Given the description of an element on the screen output the (x, y) to click on. 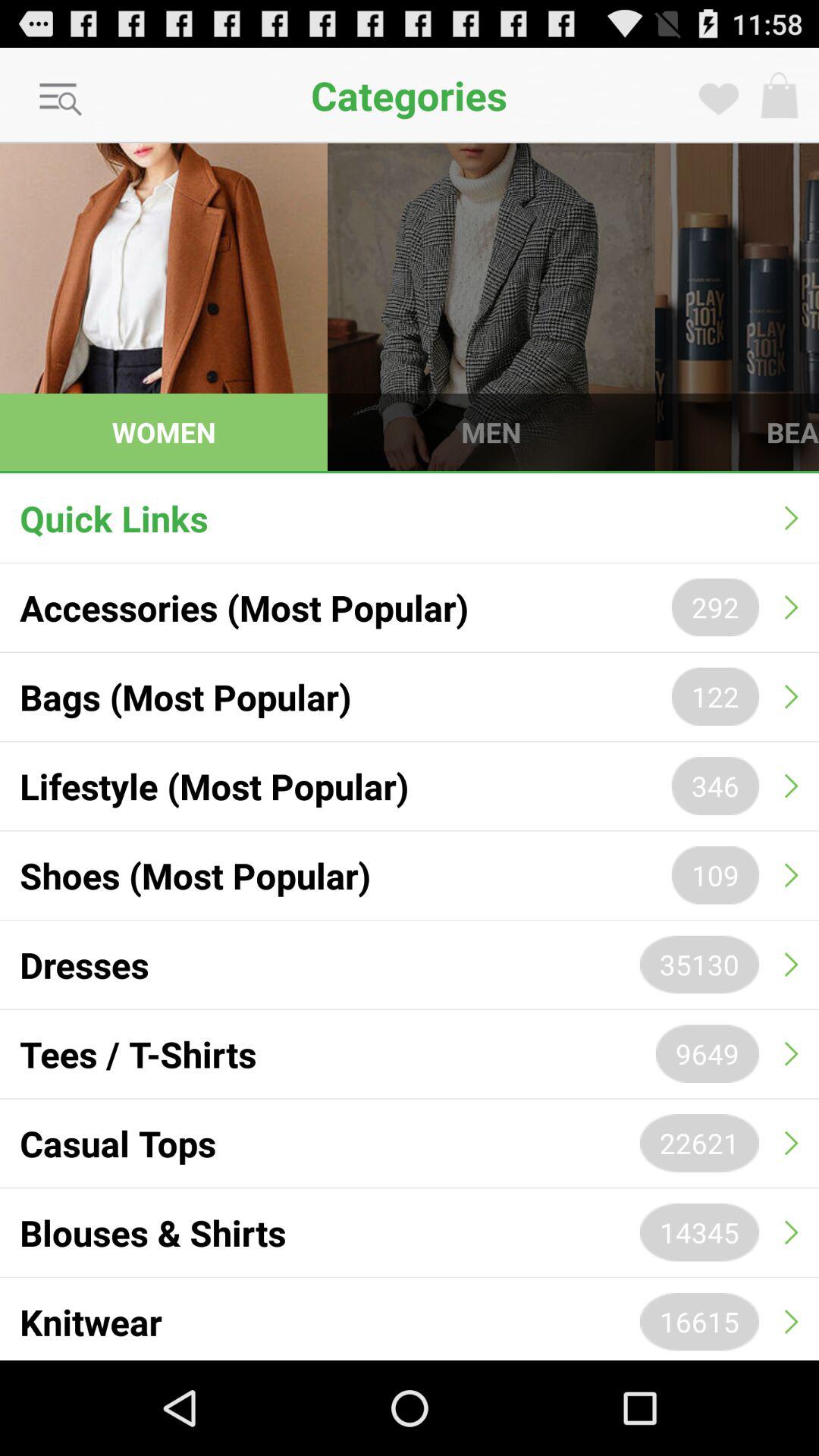
tap the icon next to the categories item (61, 100)
